Given the description of an element on the screen output the (x, y) to click on. 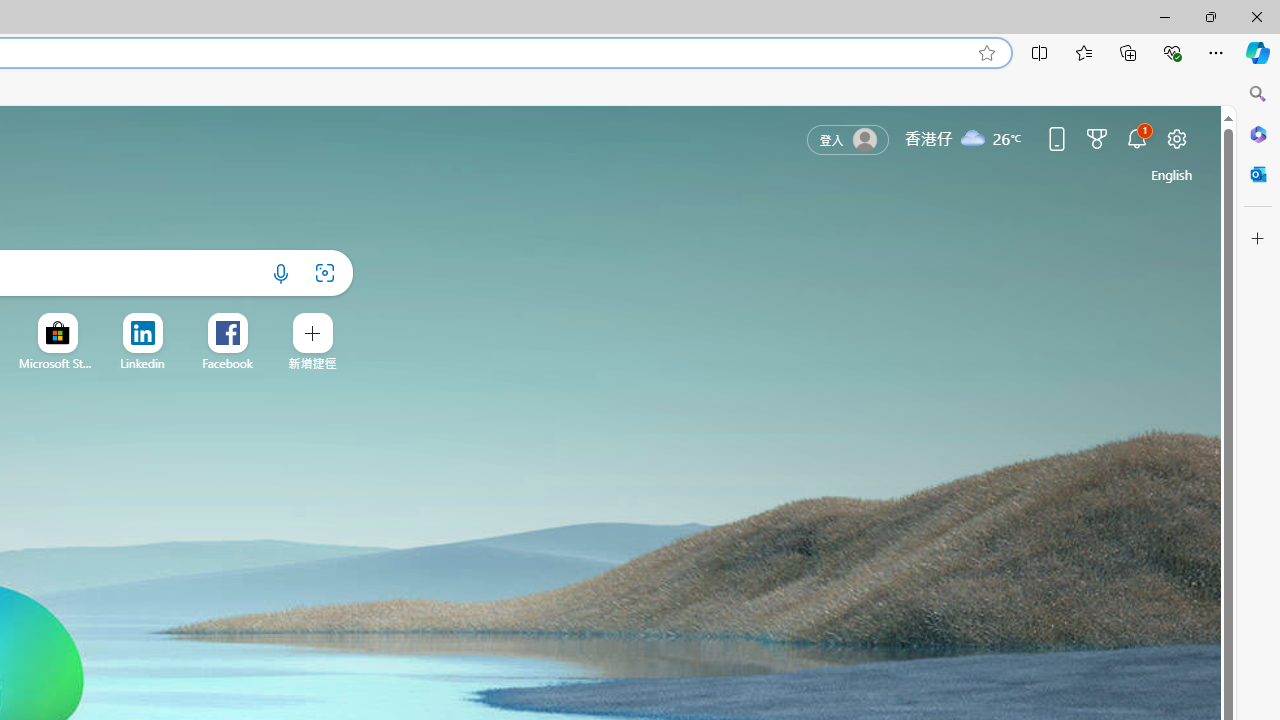
Linkedin (142, 363)
Facebook (227, 363)
Outlook (1258, 174)
